Given the description of an element on the screen output the (x, y) to click on. 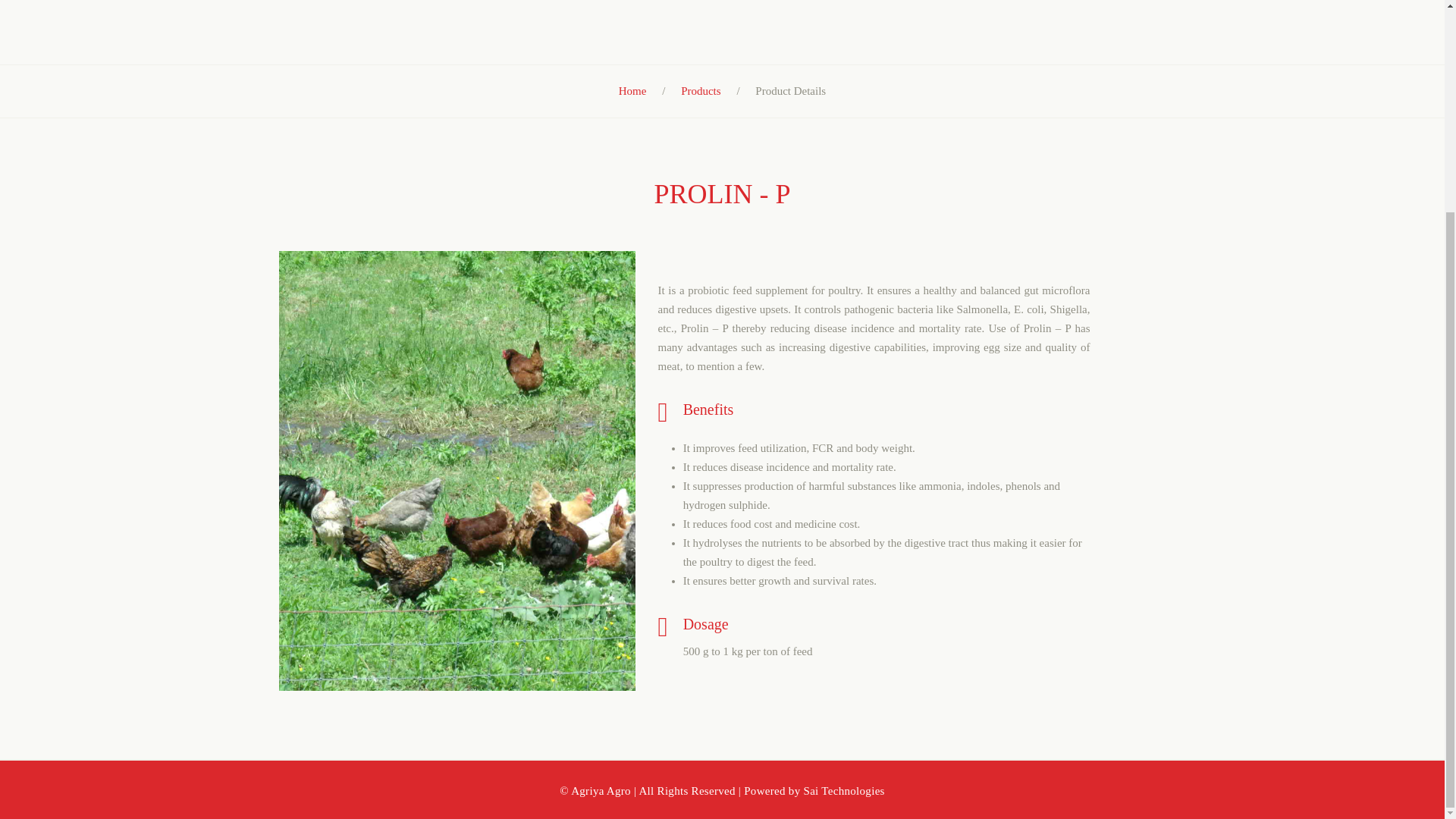
Sai Technologies (844, 790)
Products (700, 91)
Home (632, 91)
